Given the description of an element on the screen output the (x, y) to click on. 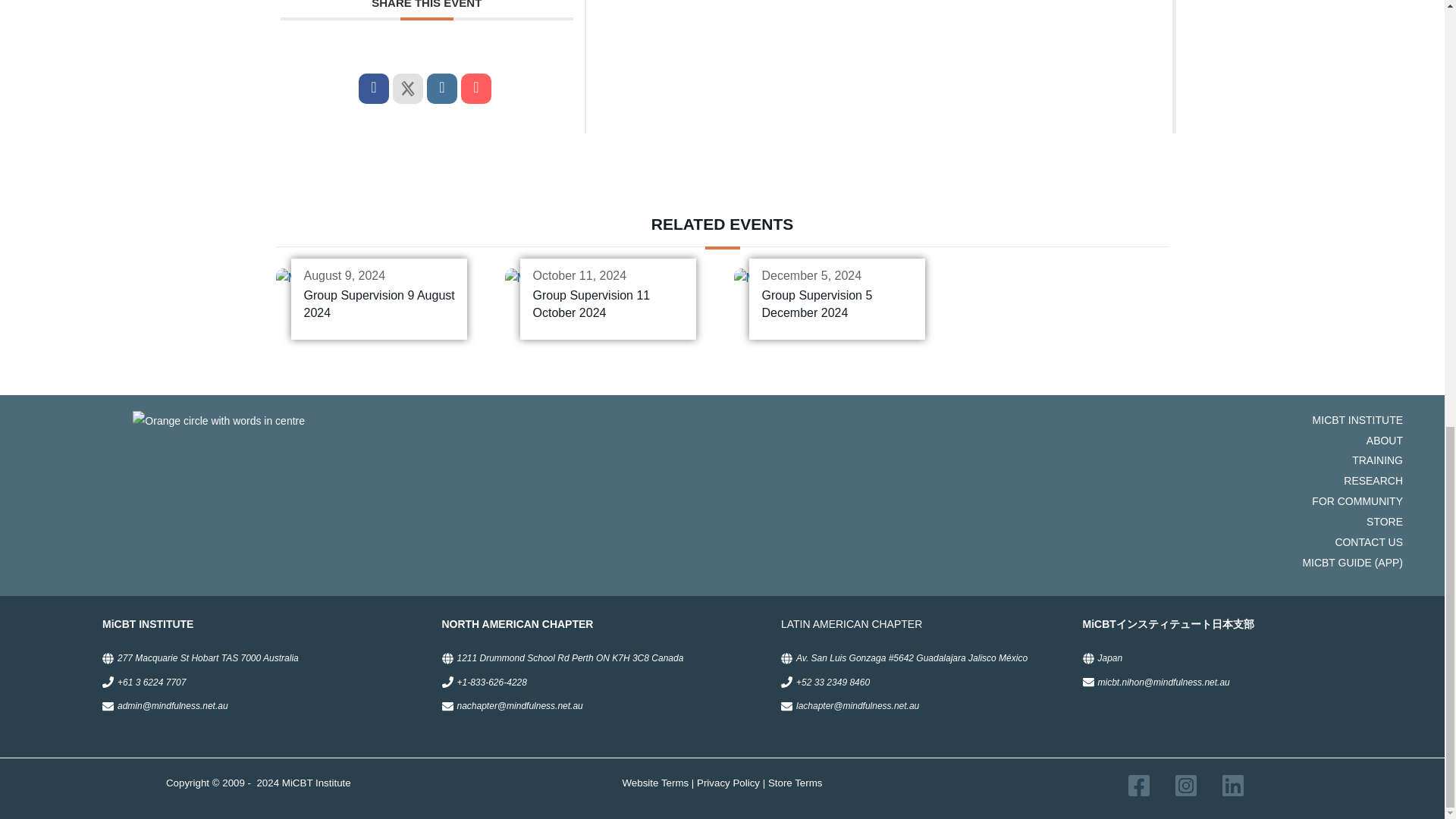
Share on Facebook (373, 88)
X Social Network (408, 88)
Linkedin (441, 88)
Email (476, 88)
